Given the description of an element on the screen output the (x, y) to click on. 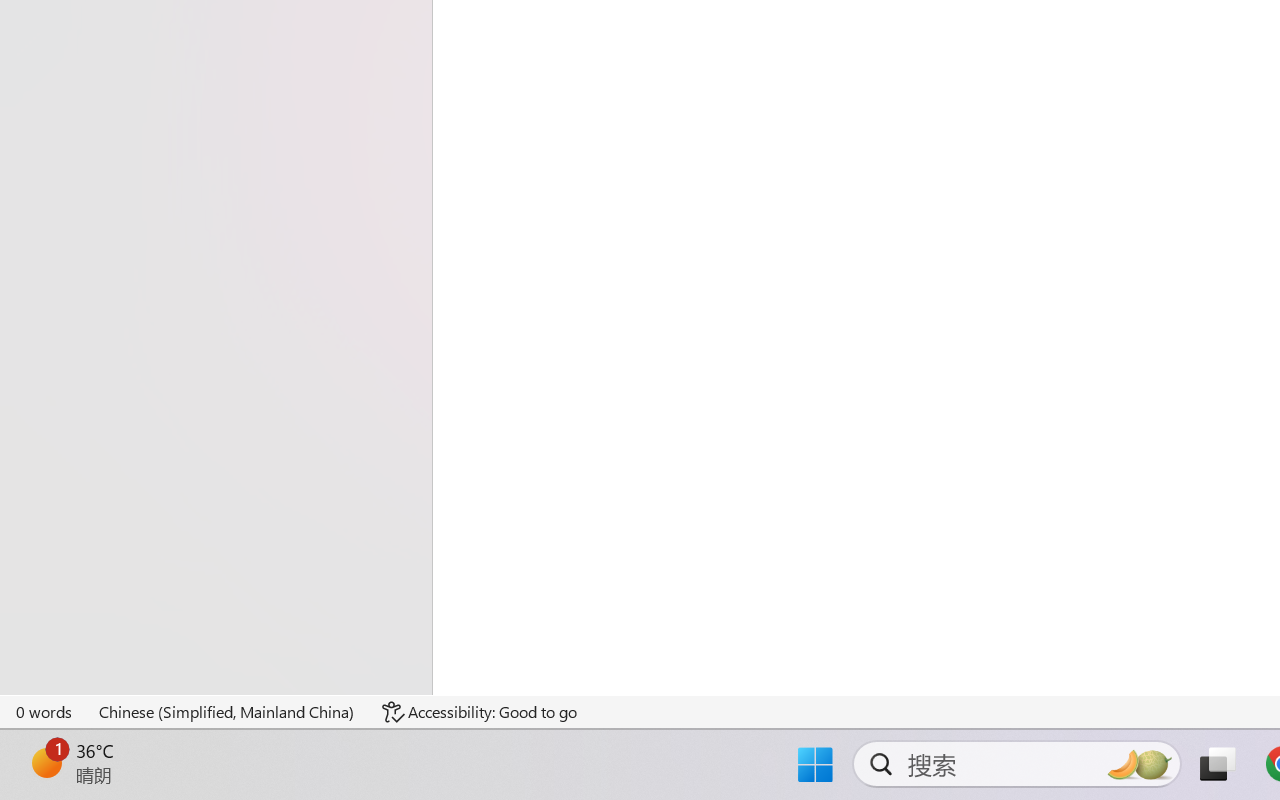
Language Chinese (Simplified, Mainland China) (227, 712)
